Given the description of an element on the screen output the (x, y) to click on. 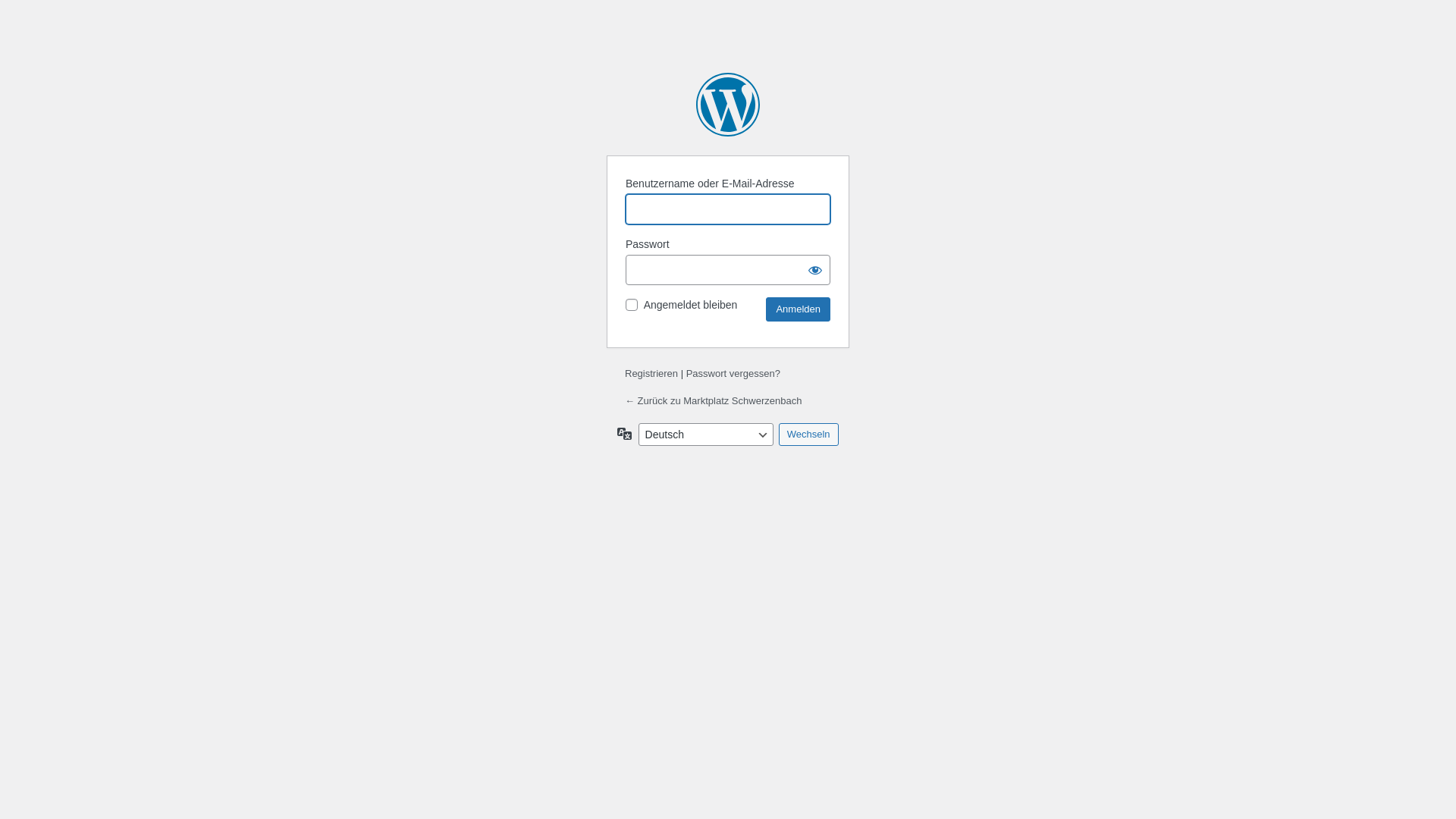
Anmelden Element type: text (797, 309)
Wechseln Element type: text (808, 434)
Registrieren Element type: text (650, 373)
Passwort vergessen? Element type: text (733, 373)
Powered by WordPress Element type: text (727, 104)
